Given the description of an element on the screen output the (x, y) to click on. 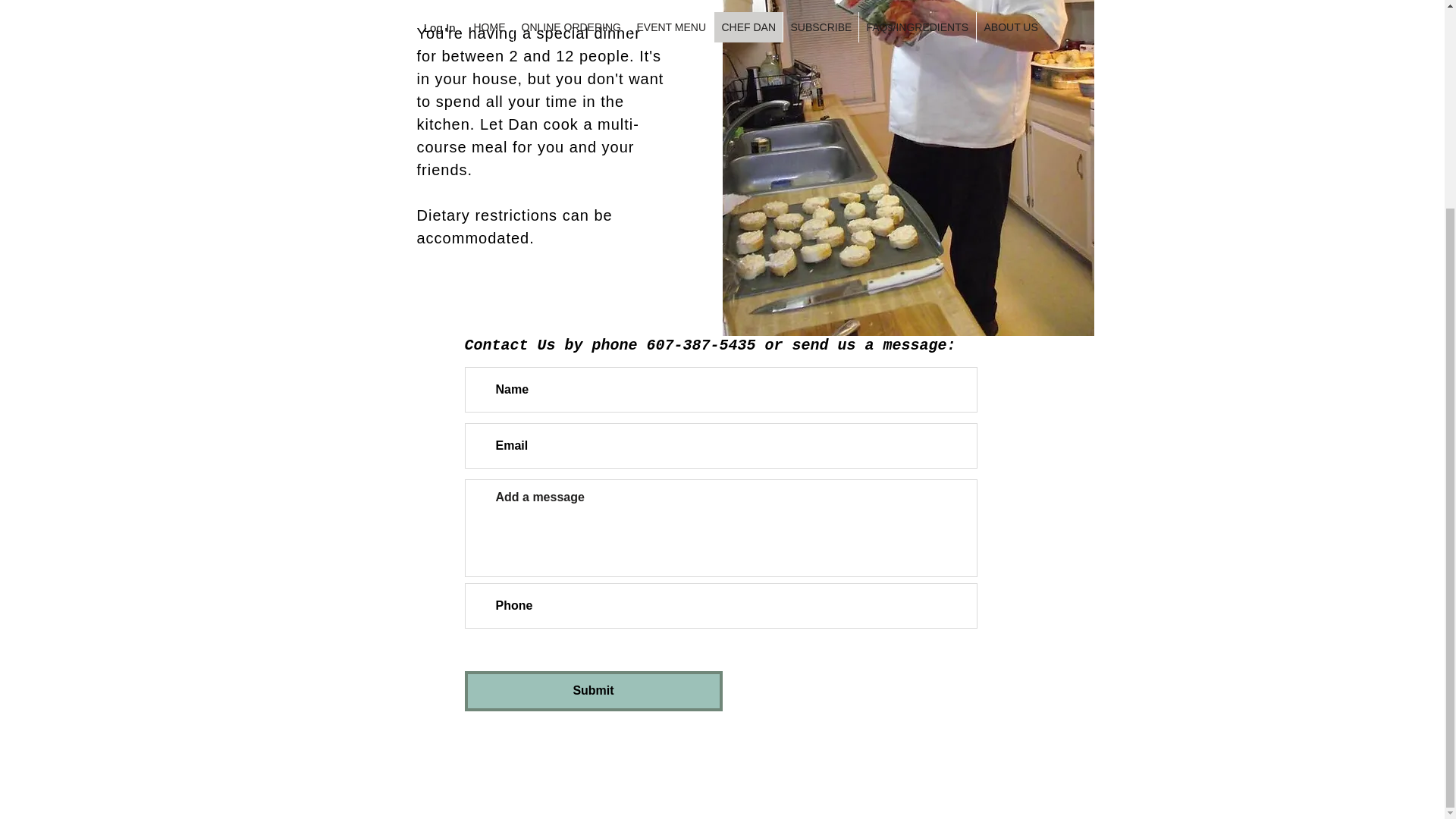
Submit (593, 690)
